Given the description of an element on the screen output the (x, y) to click on. 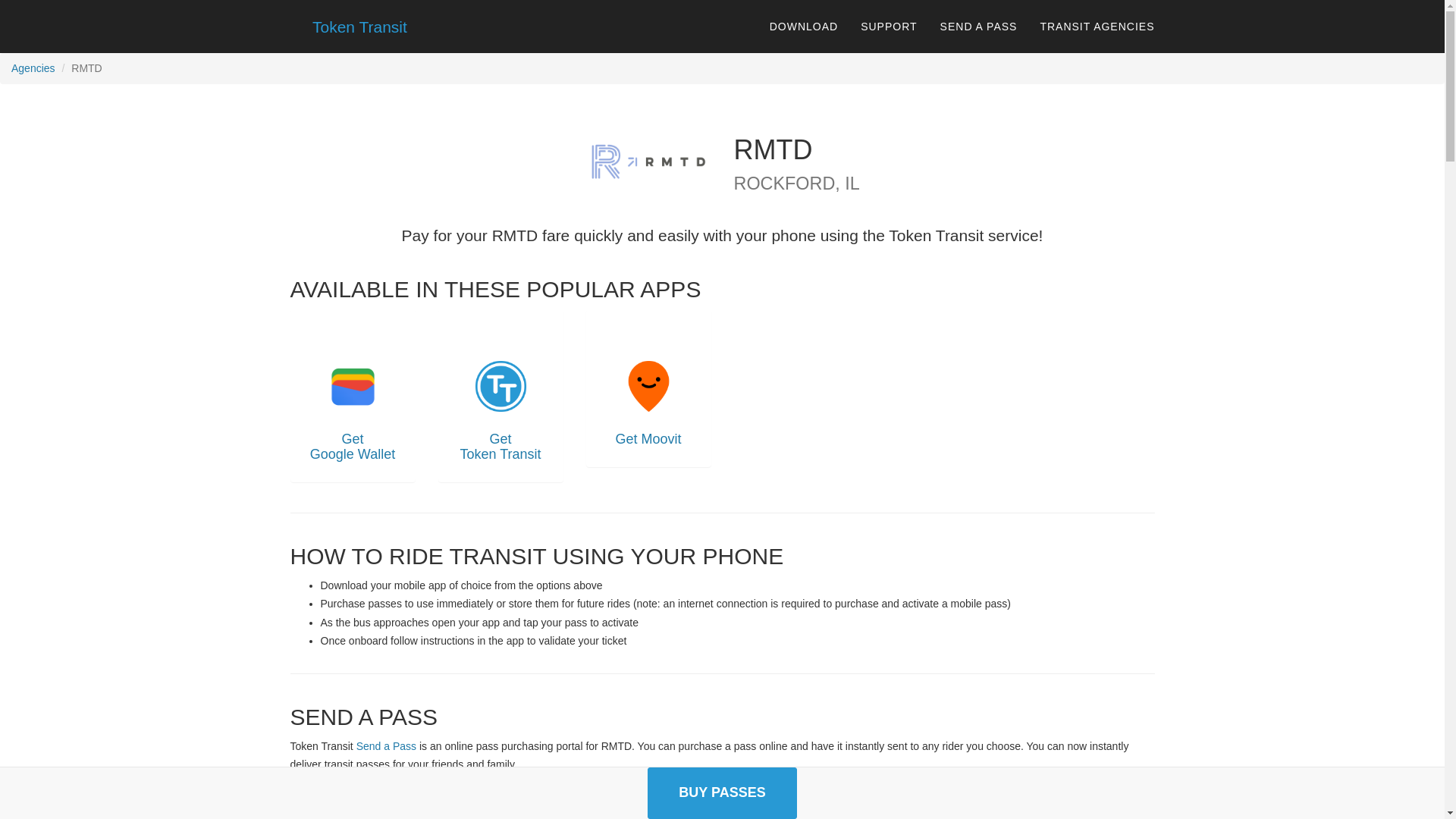
SEND A PASS (722, 794)
Token Transit (349, 26)
Token Transit (353, 26)
Get Moovit (647, 387)
SEND A PASS (978, 26)
Agencies (33, 68)
TRANSIT AGENCIES (1096, 26)
Get Google Wallet (351, 395)
Send a Pass (386, 746)
BUY PASSES (721, 793)
SUPPORT (888, 26)
Get Token Transit (500, 395)
DOWNLOAD (803, 26)
